Given the description of an element on the screen output the (x, y) to click on. 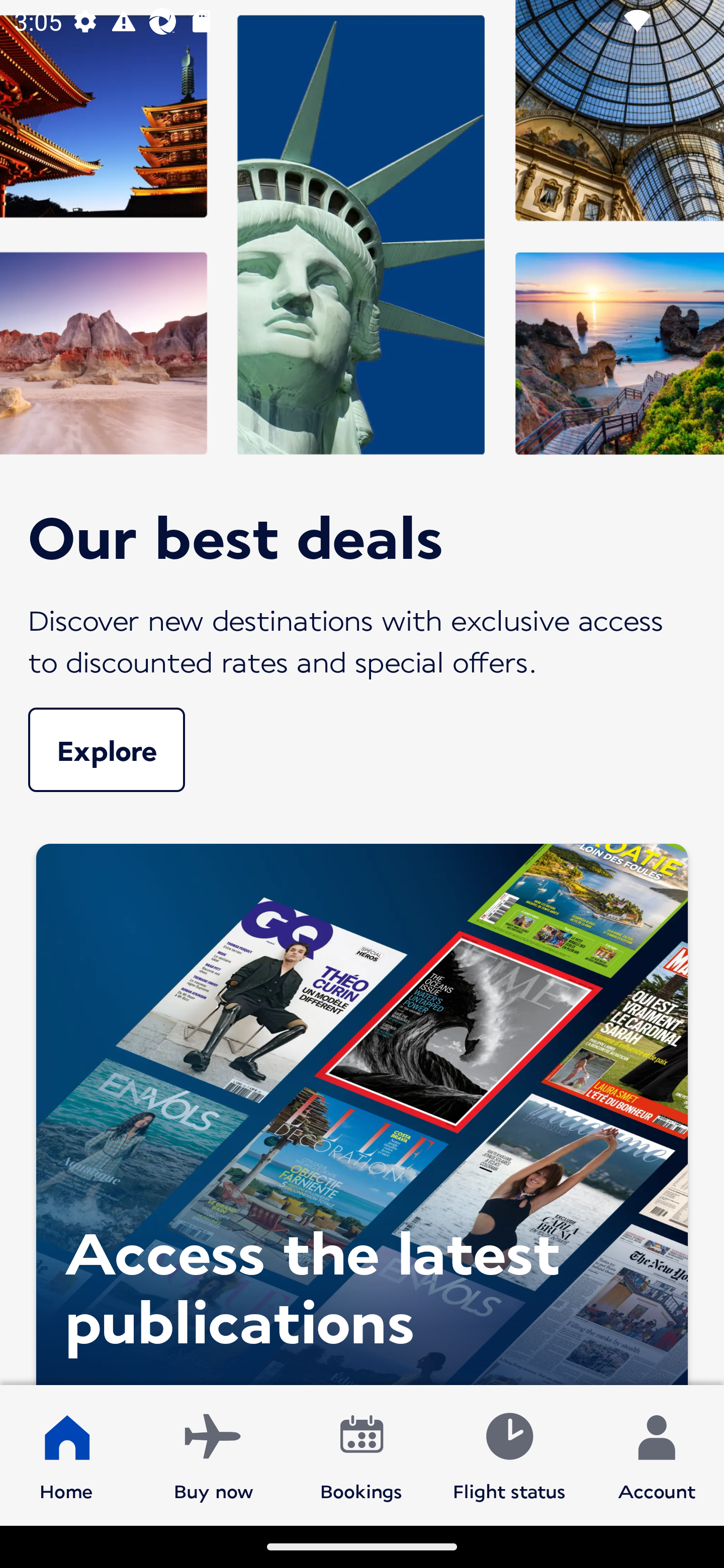
Access the latest publications (361, 1109)
Buy now (213, 1454)
Bookings (361, 1454)
Flight status (509, 1454)
Account (657, 1454)
